Given the description of an element on the screen output the (x, y) to click on. 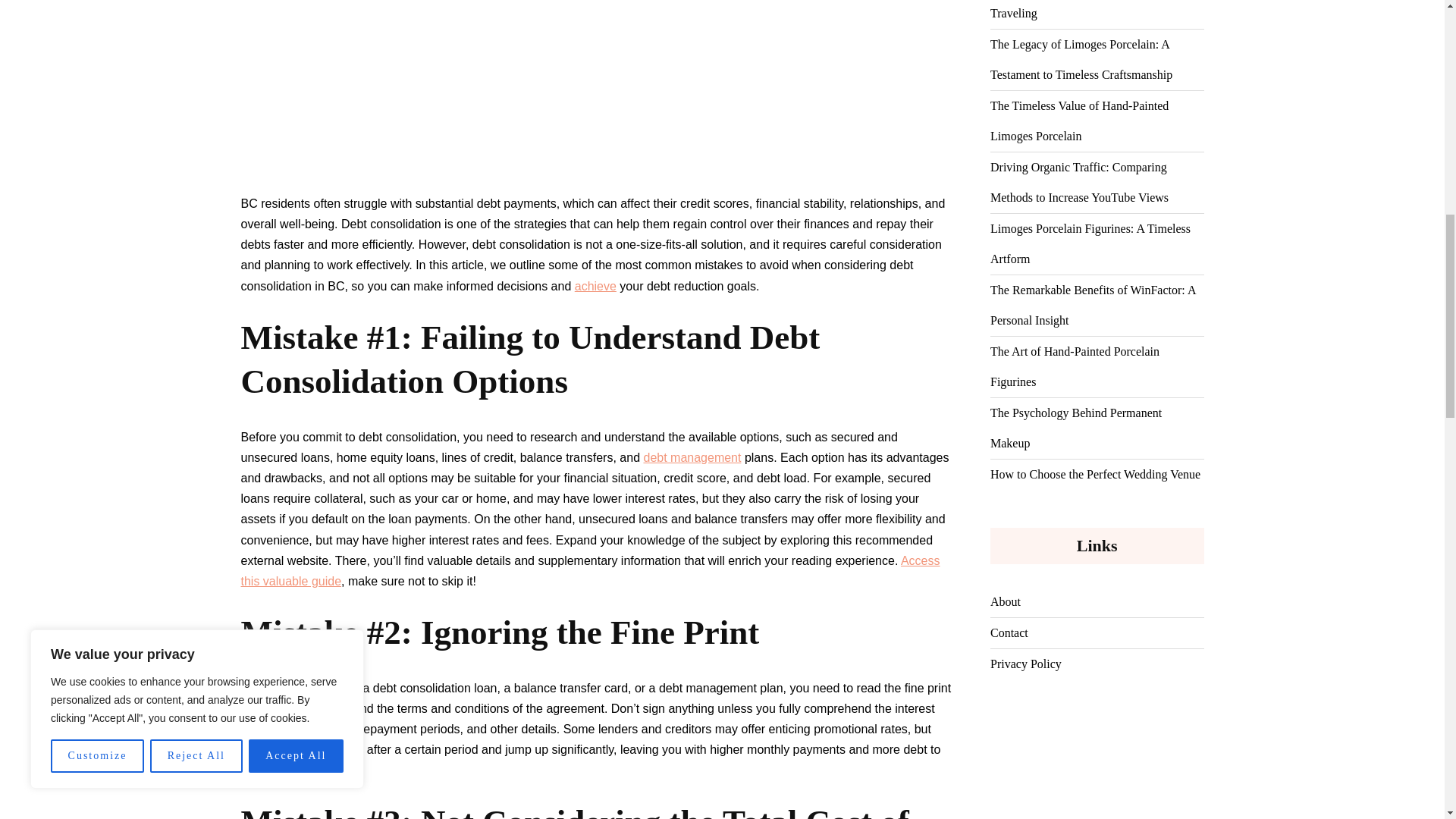
Access this valuable guide (590, 571)
debt management (692, 457)
achieve (595, 285)
